Given the description of an element on the screen output the (x, y) to click on. 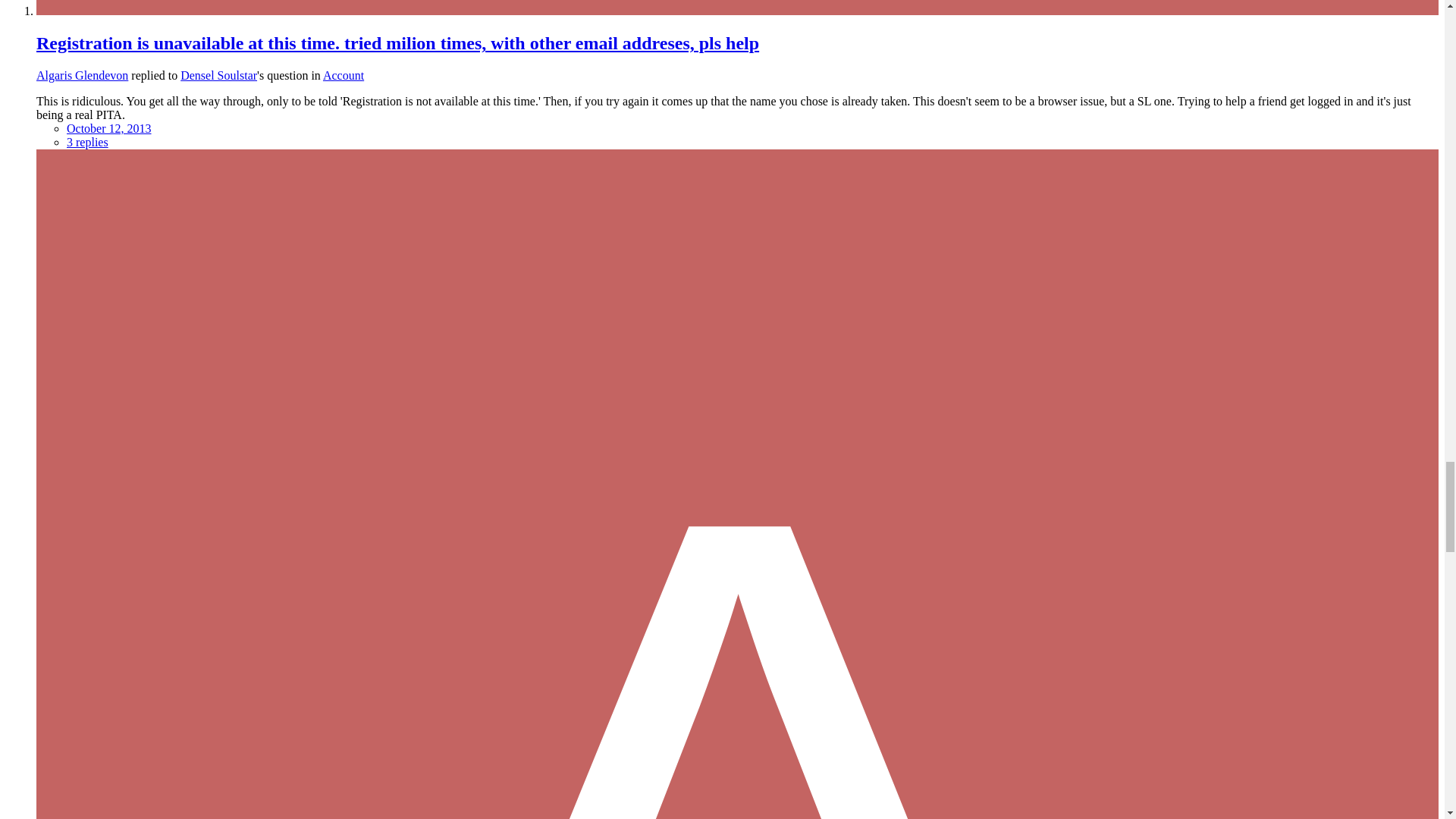
Go to Algaris Glendevon's profile (82, 74)
Go to Densel Soulstar's profile (218, 74)
